Given the description of an element on the screen output the (x, y) to click on. 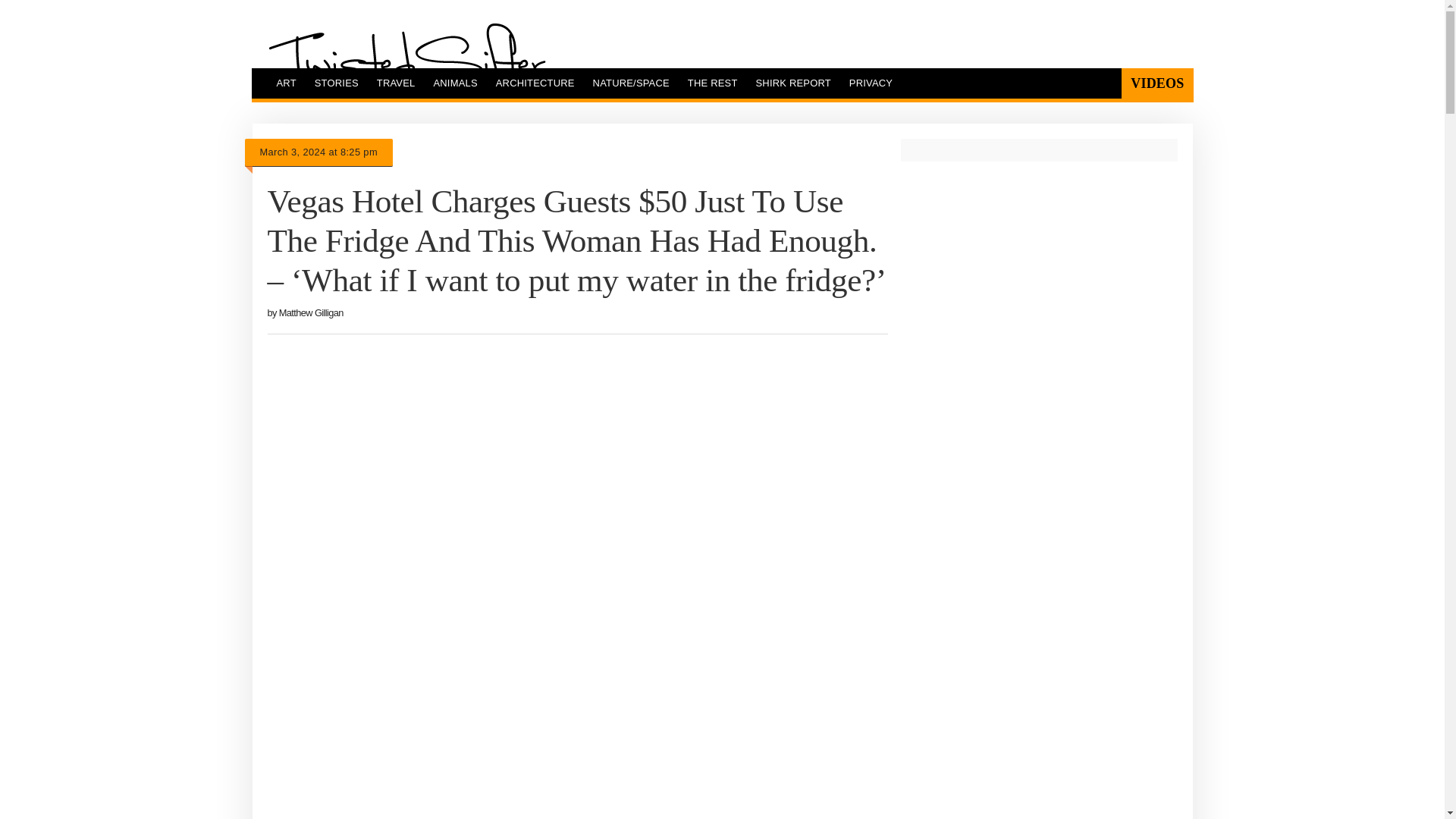
SHIRK REPORT (793, 82)
TRAVEL (396, 82)
ARCHITECTURE (534, 82)
Home (406, 59)
ART (285, 82)
VIDEOS (1156, 82)
PRIVACY (870, 82)
THE REST (712, 82)
ANIMALS (454, 82)
STORIES (336, 82)
